Given the description of an element on the screen output the (x, y) to click on. 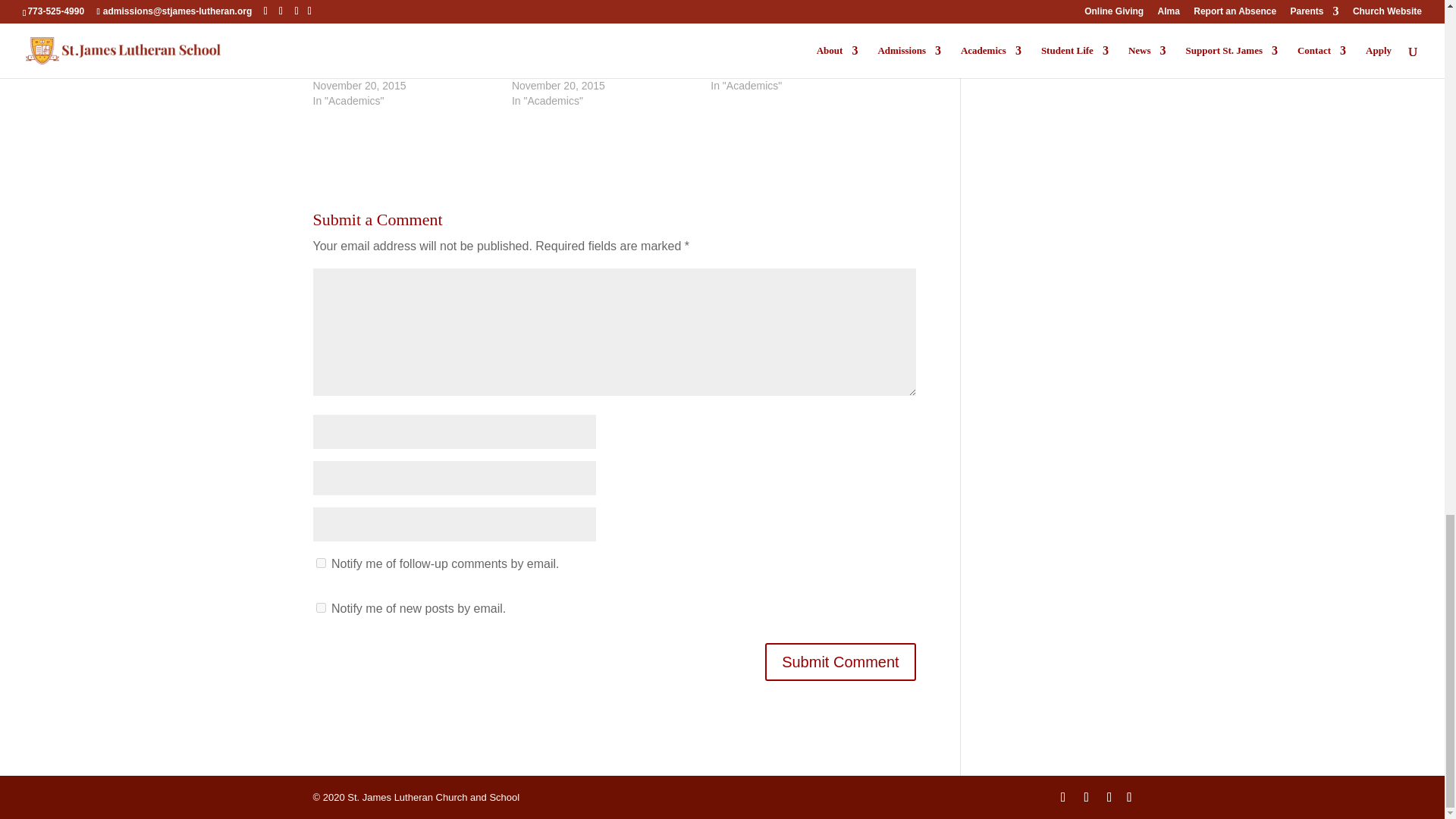
Importance of Culminating Events in Early Childhood (398, 62)
Olympic Project Week in Elementary (796, 55)
subscribe (319, 607)
Submit Comment (840, 661)
subscribe (319, 562)
